Given the description of an element on the screen output the (x, y) to click on. 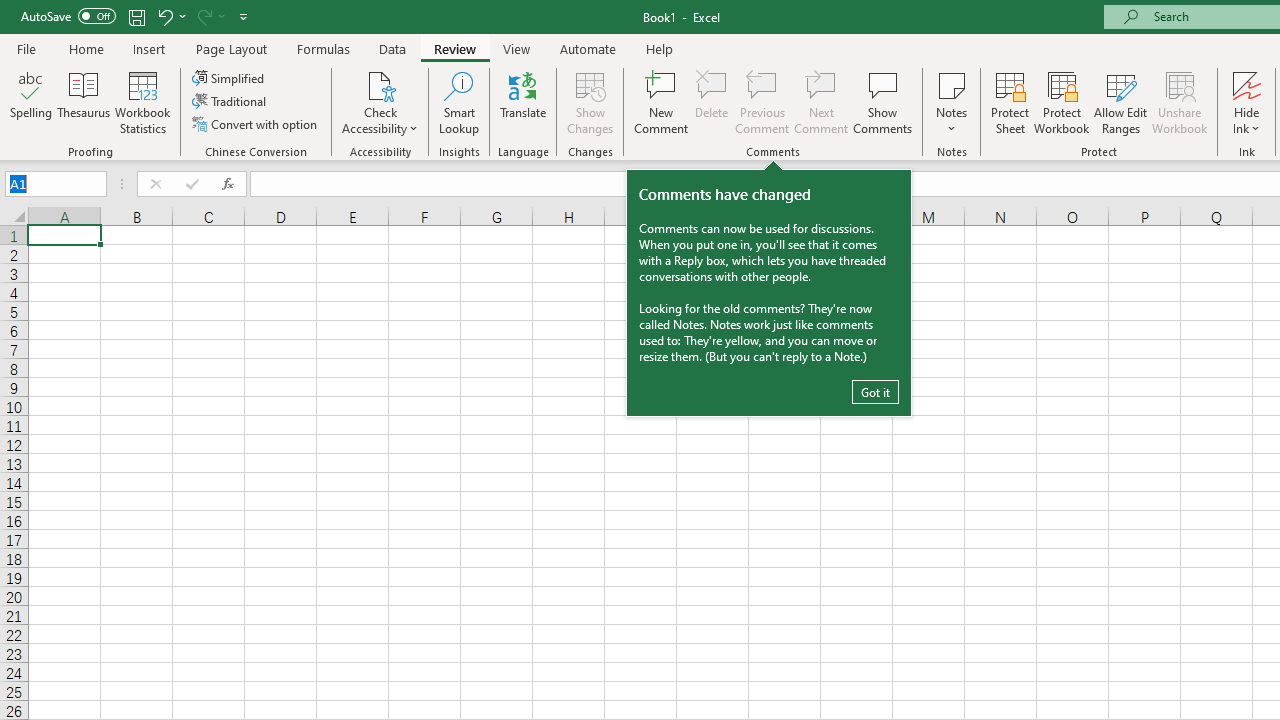
Workbook Statistics (142, 102)
